Given the description of an element on the screen output the (x, y) to click on. 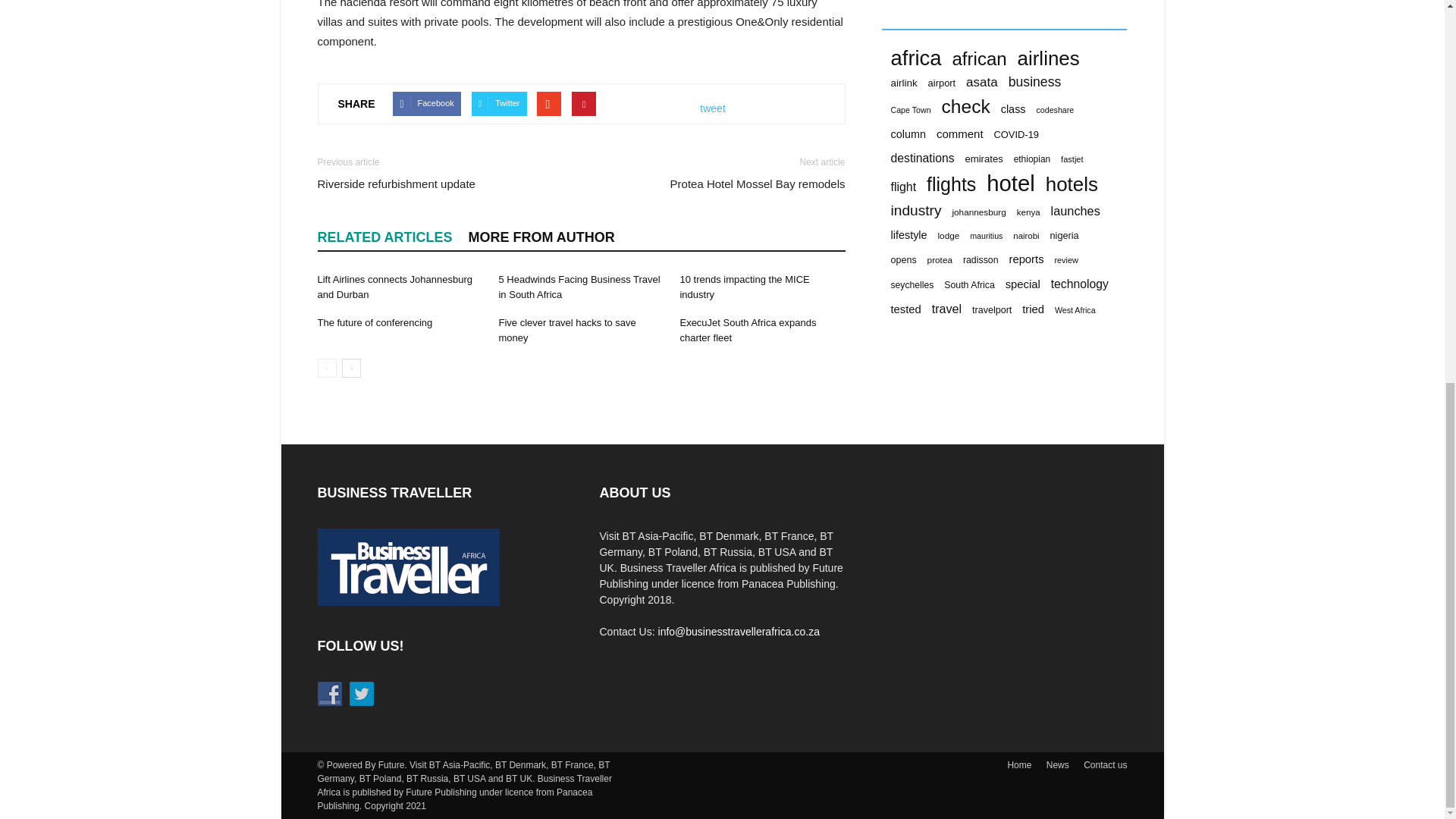
The future of conferencing (374, 322)
Five clever travel hacks to save money (565, 329)
5 Headwinds Facing Business Travel in South Africa (578, 286)
Lift Airlines connects Johannesburg and Durban (394, 286)
ExecuJet South Africa expands charter fleet (747, 329)
10 trends impacting the MICE industry (744, 286)
Follow Us: Facebook (328, 693)
